Given the description of an element on the screen output the (x, y) to click on. 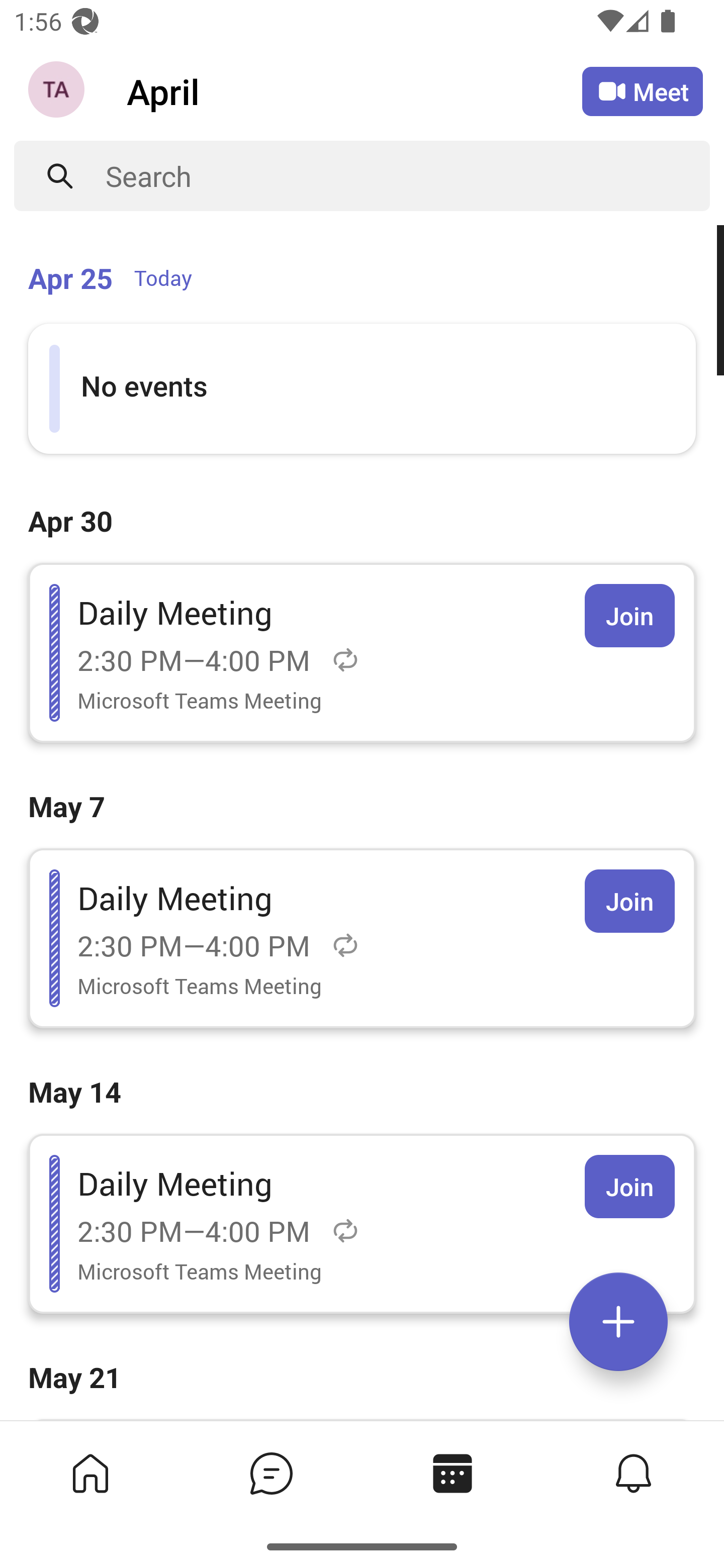
Navigation (58, 91)
Meet Meet now or join with an ID (642, 91)
April April Calendar Agenda View (354, 90)
Search (407, 176)
Join (629, 615)
Join (629, 900)
Join (629, 1186)
Expand meetings menu (618, 1321)
Home tab,1 of 4, not selected (90, 1472)
Chat tab,2 of 4, not selected (271, 1472)
Calendar tab, 3 of 4 (452, 1472)
Activity tab,4 of 4, not selected (633, 1472)
